Given the description of an element on the screen output the (x, y) to click on. 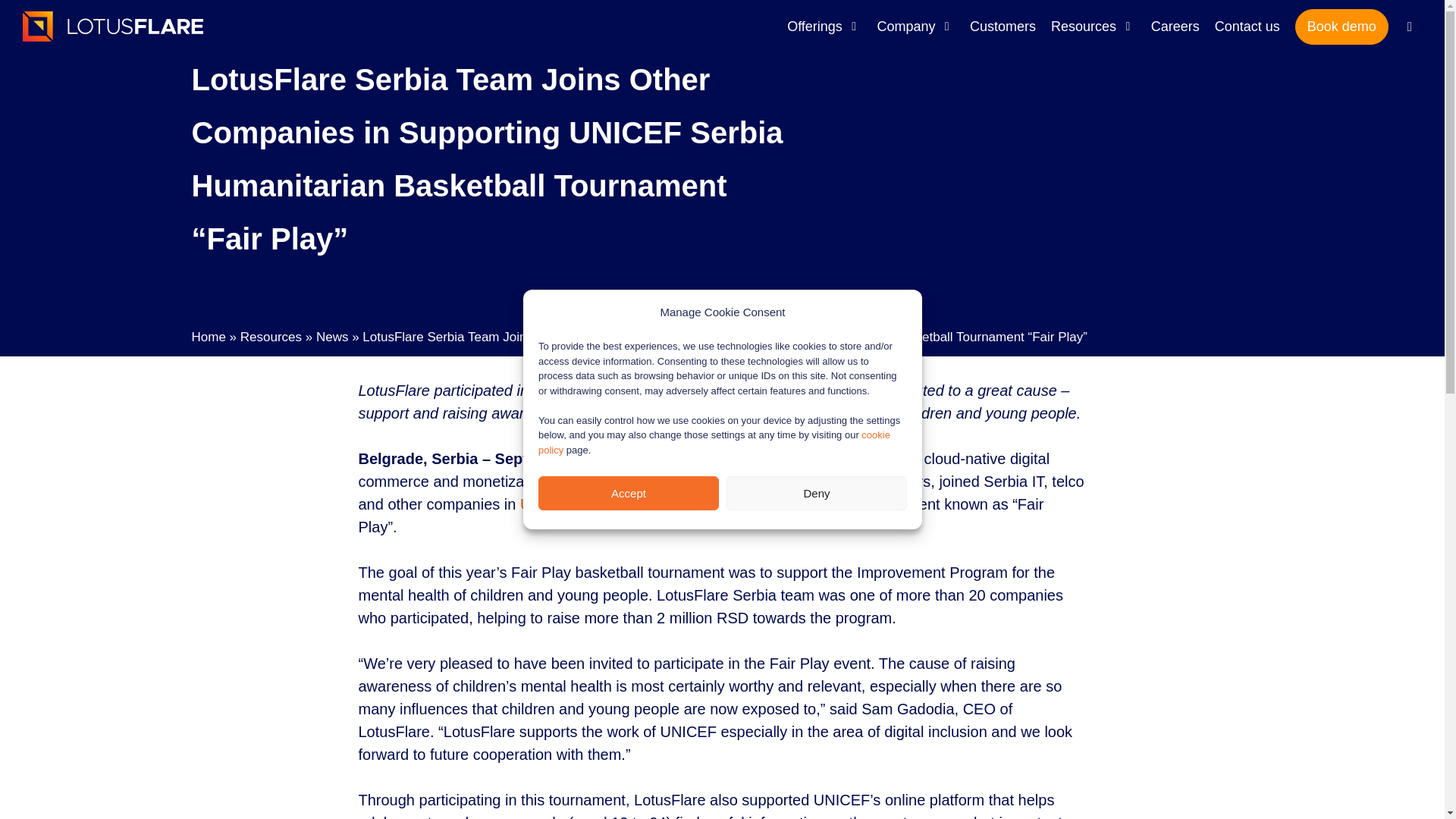
Offerings (824, 26)
Accept (628, 492)
Deny (816, 492)
cookie policy (713, 442)
